Given the description of an element on the screen output the (x, y) to click on. 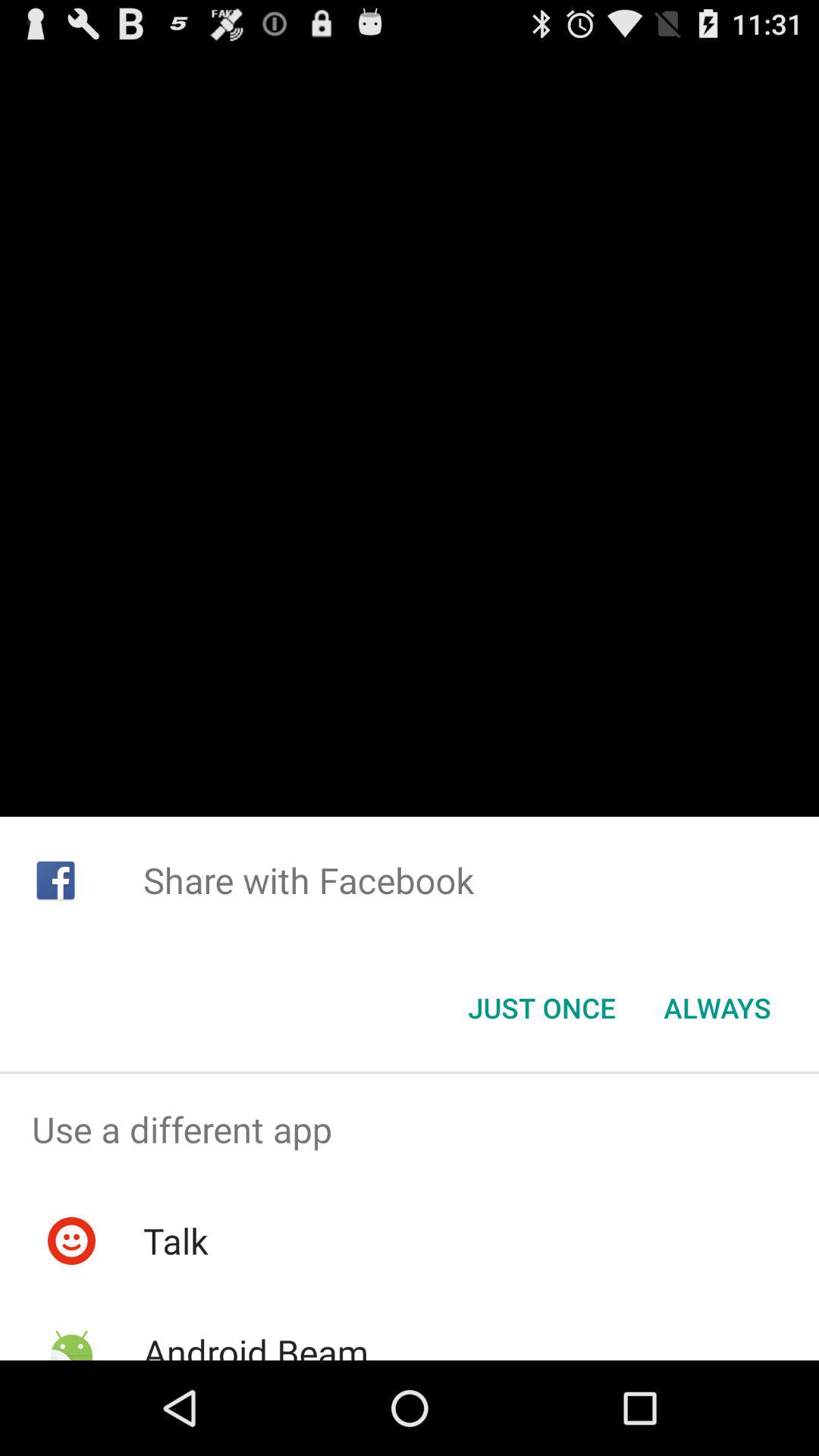
press just once icon (541, 1007)
